Given the description of an element on the screen output the (x, y) to click on. 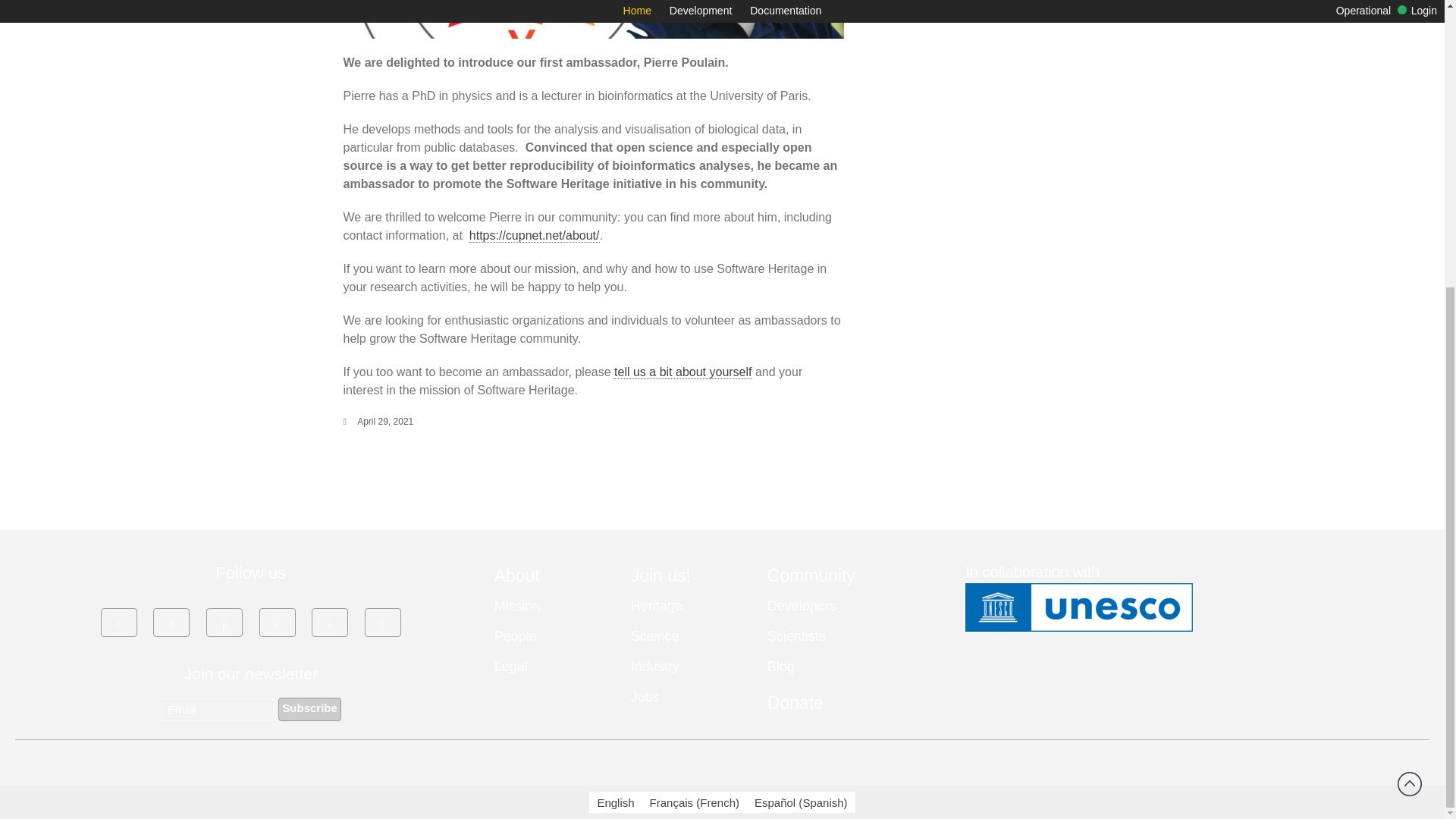
Subscribe (309, 709)
